Given the description of an element on the screen output the (x, y) to click on. 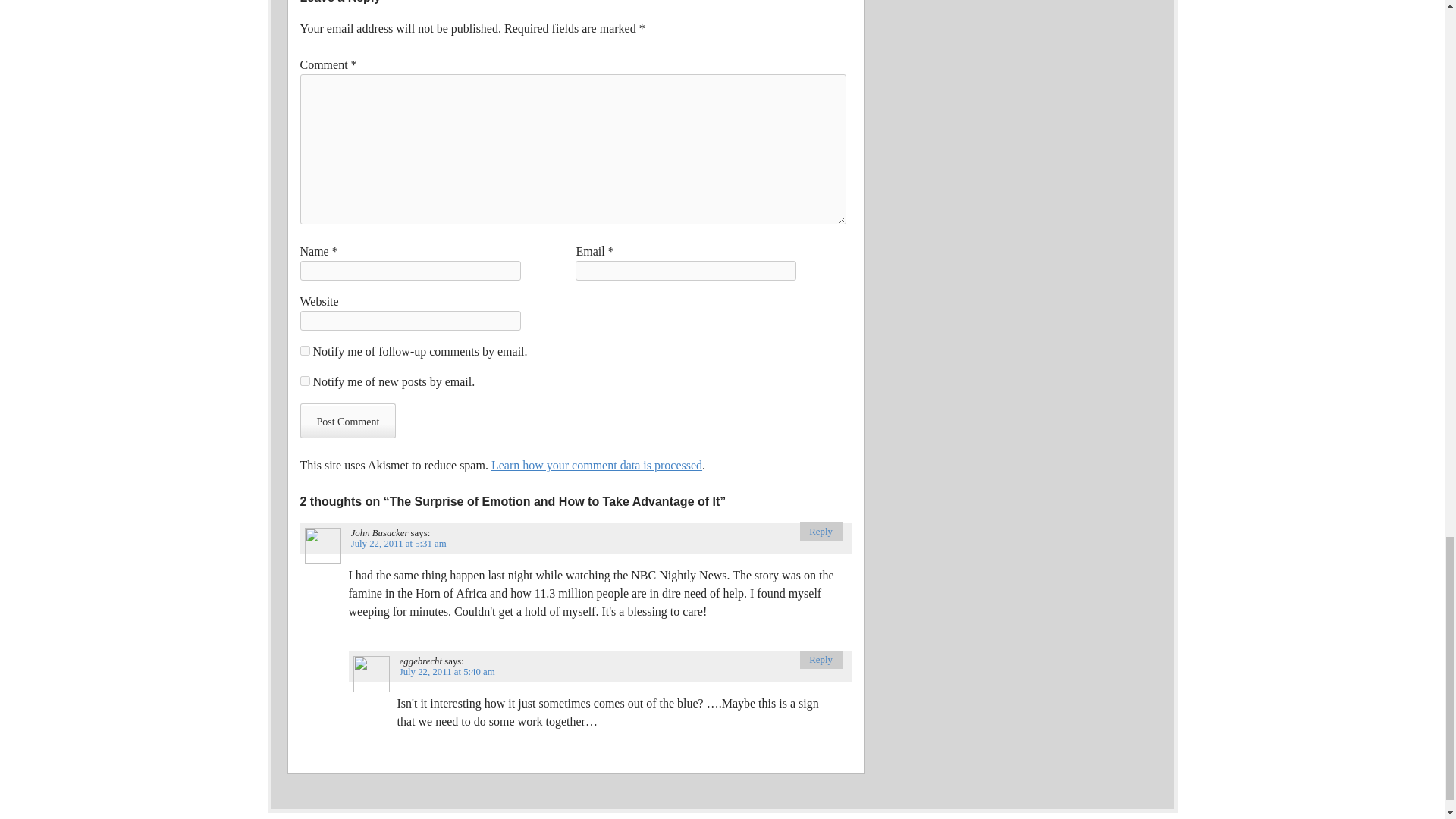
subscribe (304, 380)
Post Comment (347, 420)
Post Comment (347, 420)
subscribe (304, 350)
July 22, 2011 at 5:31 am (398, 543)
Learn how your comment data is processed (596, 464)
